Given the description of an element on the screen output the (x, y) to click on. 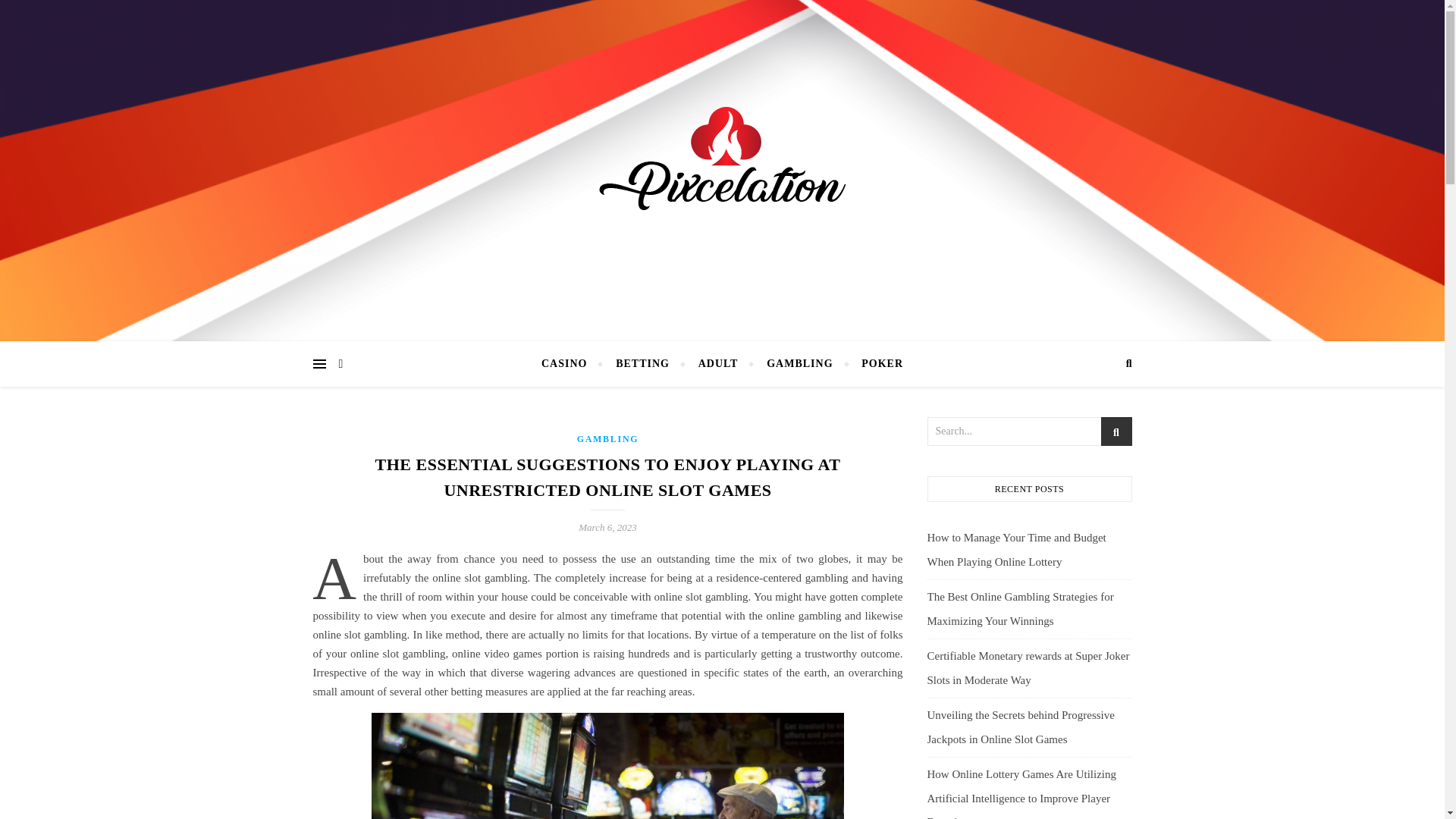
GAMBLING (799, 363)
GAMBLING (607, 439)
Pixcelation (721, 166)
CASINO (570, 363)
st (1116, 431)
POKER (875, 363)
ADULT (718, 363)
